Given the description of an element on the screen output the (x, y) to click on. 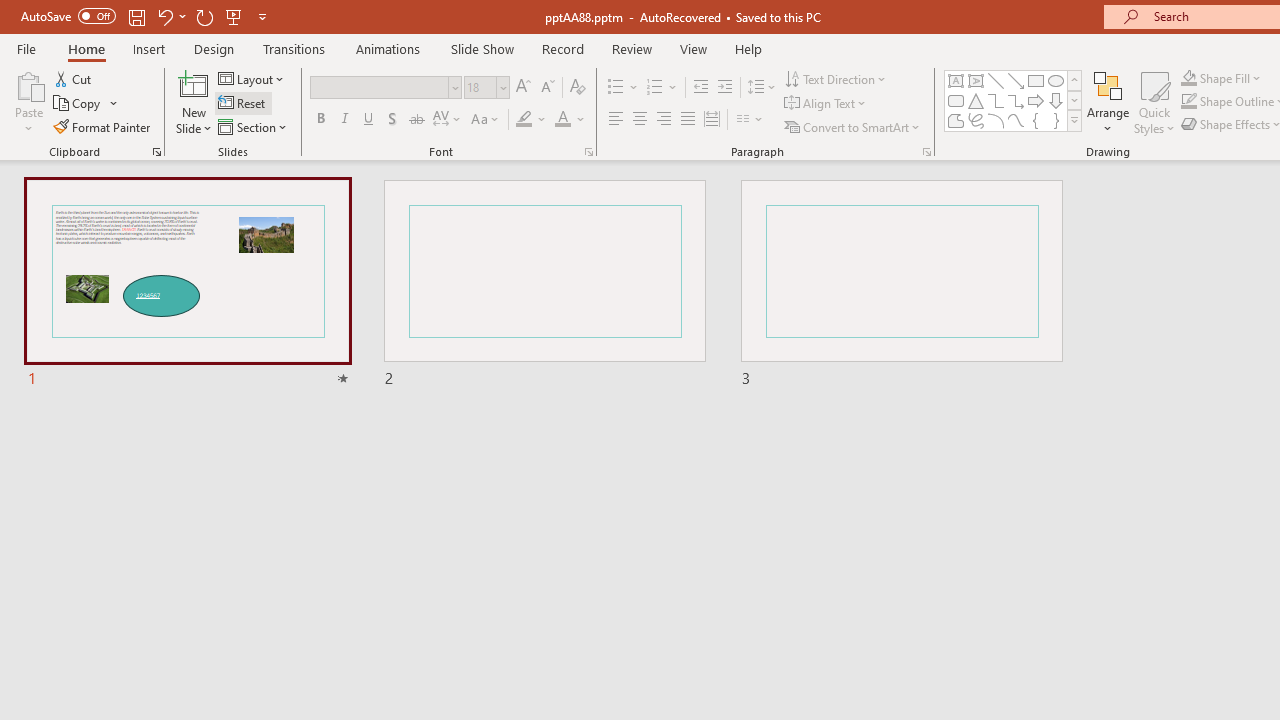
Shape Fill Aqua, Accent 2 (1188, 78)
Shape Outline Teal, Accent 1 (1188, 101)
